Given the description of an element on the screen output the (x, y) to click on. 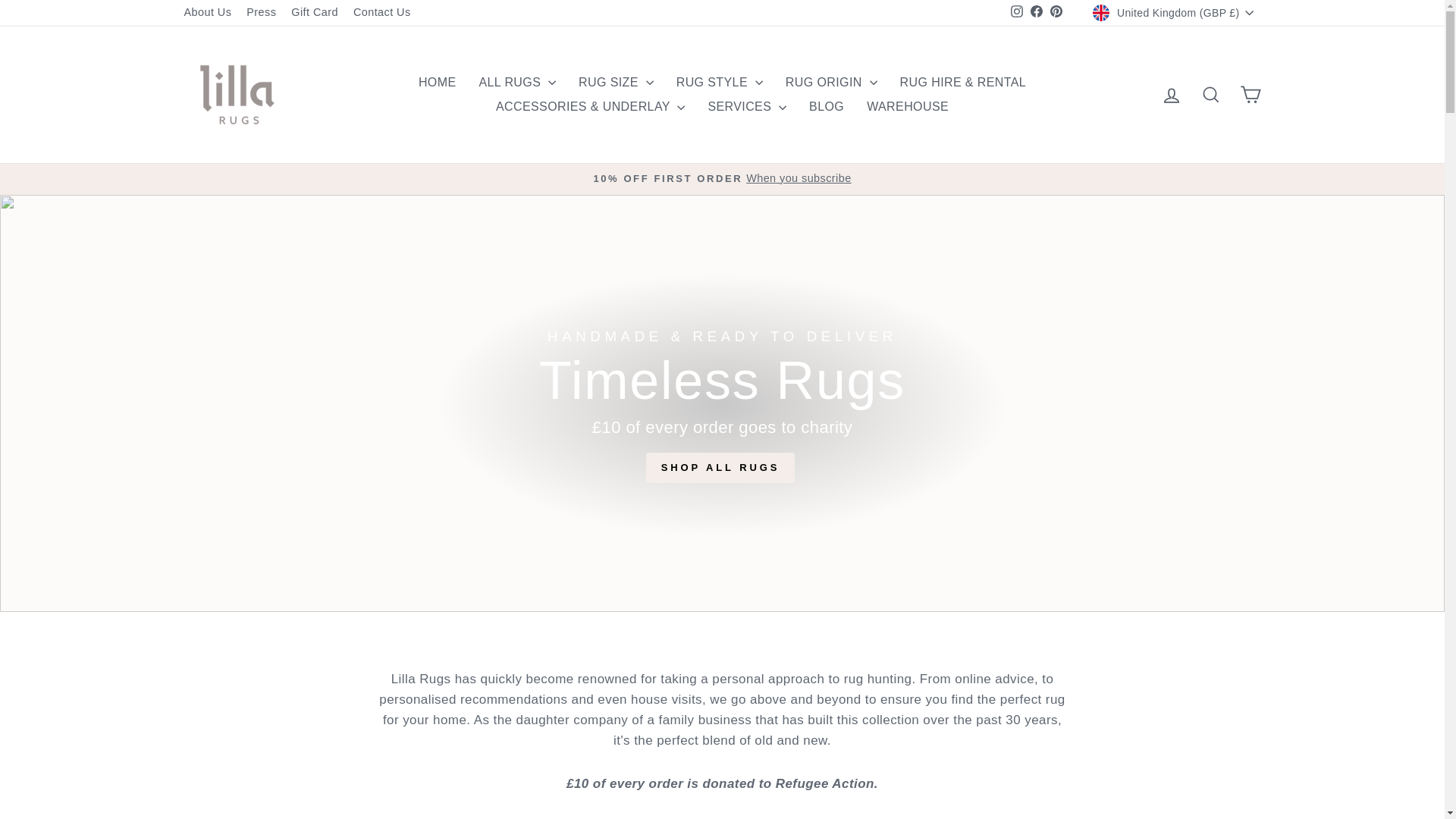
instagram (1016, 10)
ACCOUNT (1170, 95)
ICON-SEARCH (1210, 94)
